Given the description of an element on the screen output the (x, y) to click on. 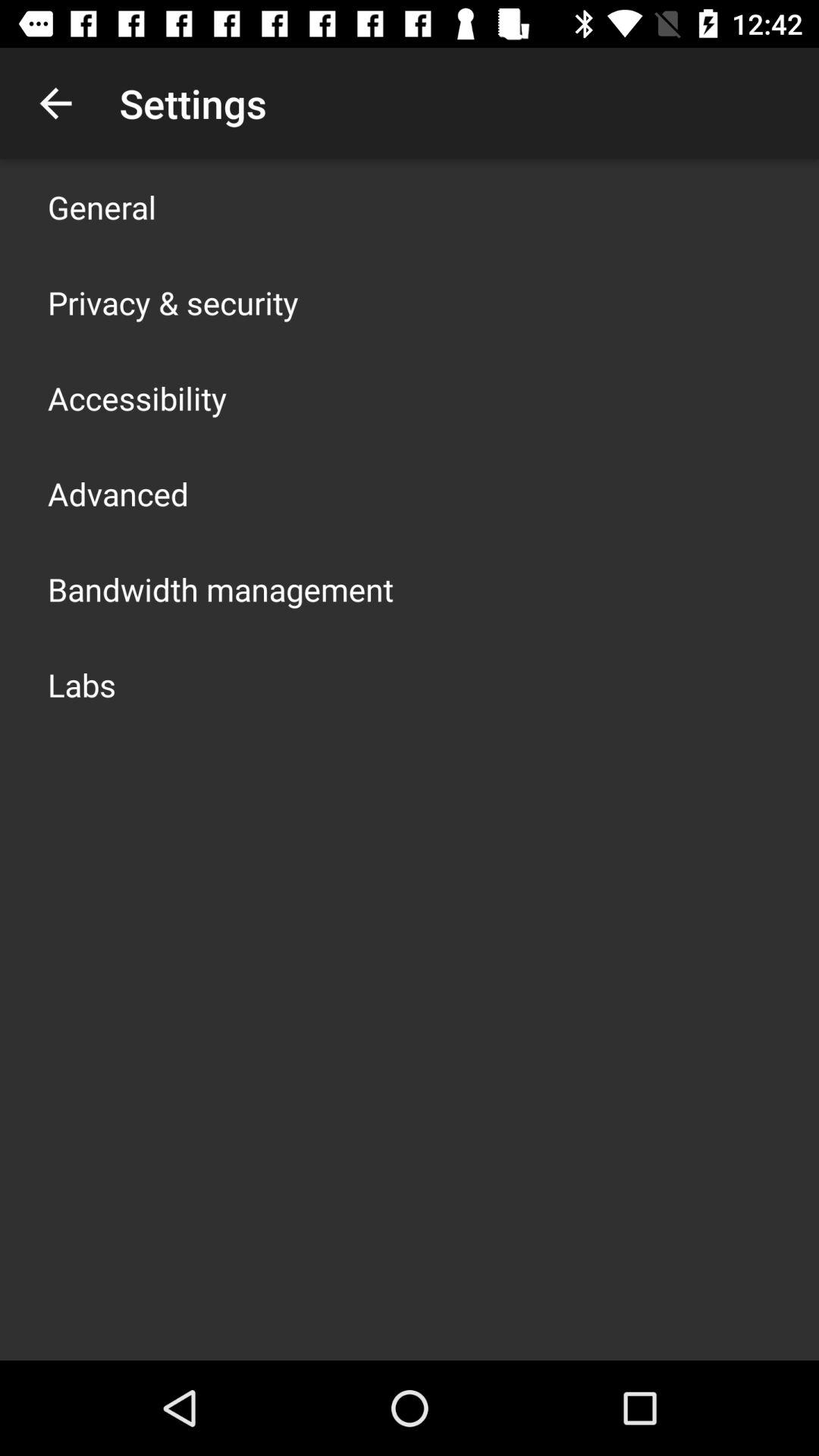
flip until general item (101, 206)
